Given the description of an element on the screen output the (x, y) to click on. 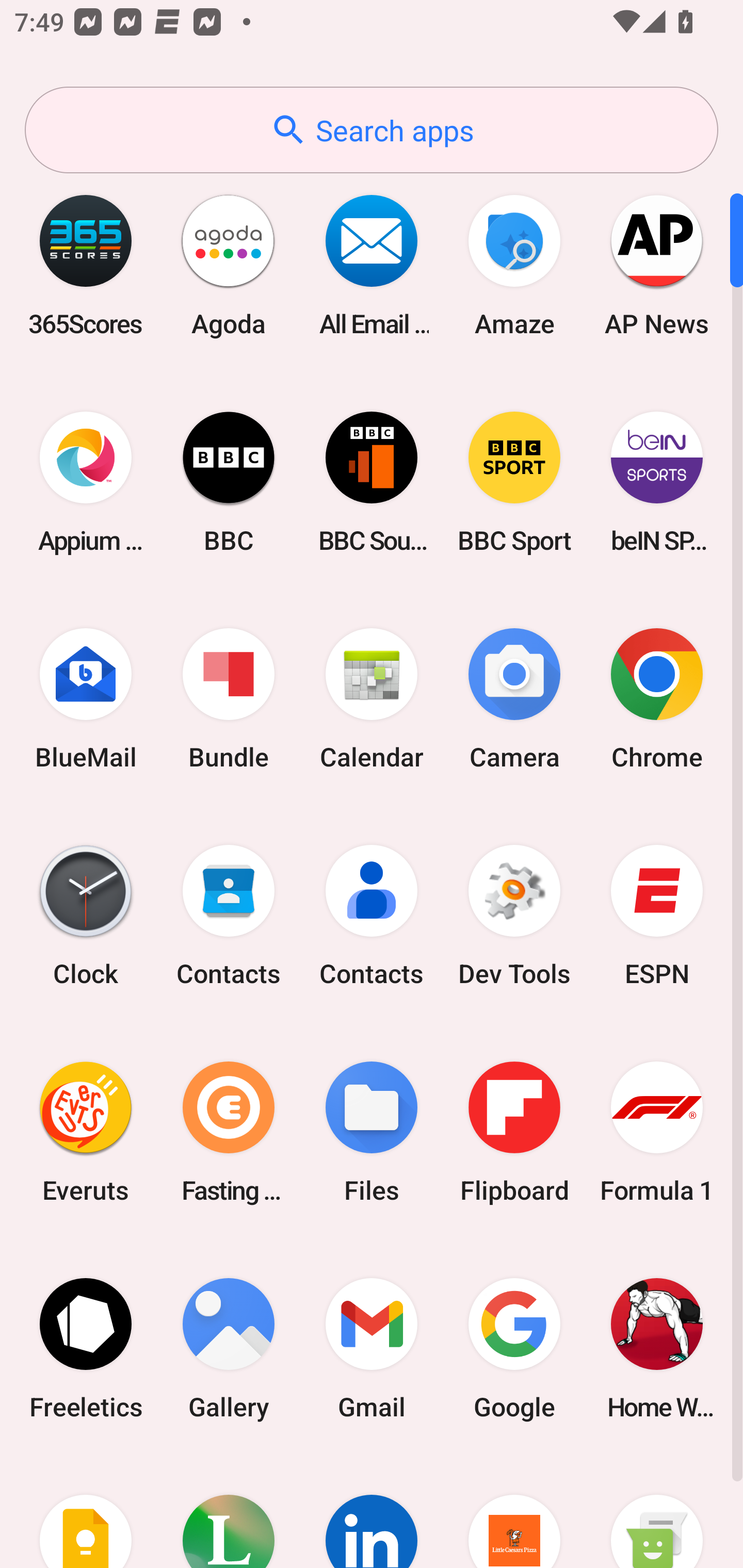
  Search apps (371, 130)
365Scores (85, 264)
Agoda (228, 264)
All Email Connect (371, 264)
Amaze (514, 264)
AP News (656, 264)
Appium Settings (85, 482)
BBC (228, 482)
BBC Sounds (371, 482)
BBC Sport (514, 482)
beIN SPORTS (656, 482)
BlueMail (85, 699)
Bundle (228, 699)
Calendar (371, 699)
Camera (514, 699)
Chrome (656, 699)
Clock (85, 915)
Contacts (228, 915)
Contacts (371, 915)
Dev Tools (514, 915)
ESPN (656, 915)
Everuts (85, 1131)
Fasting Coach (228, 1131)
Files (371, 1131)
Flipboard (514, 1131)
Formula 1 (656, 1131)
Freeletics (85, 1348)
Gallery (228, 1348)
Gmail (371, 1348)
Google (514, 1348)
Home Workout (656, 1348)
Keep Notes (85, 1512)
Lifesum (228, 1512)
LinkedIn (371, 1512)
Little Caesars Pizza (514, 1512)
Messaging (656, 1512)
